Given the description of an element on the screen output the (x, y) to click on. 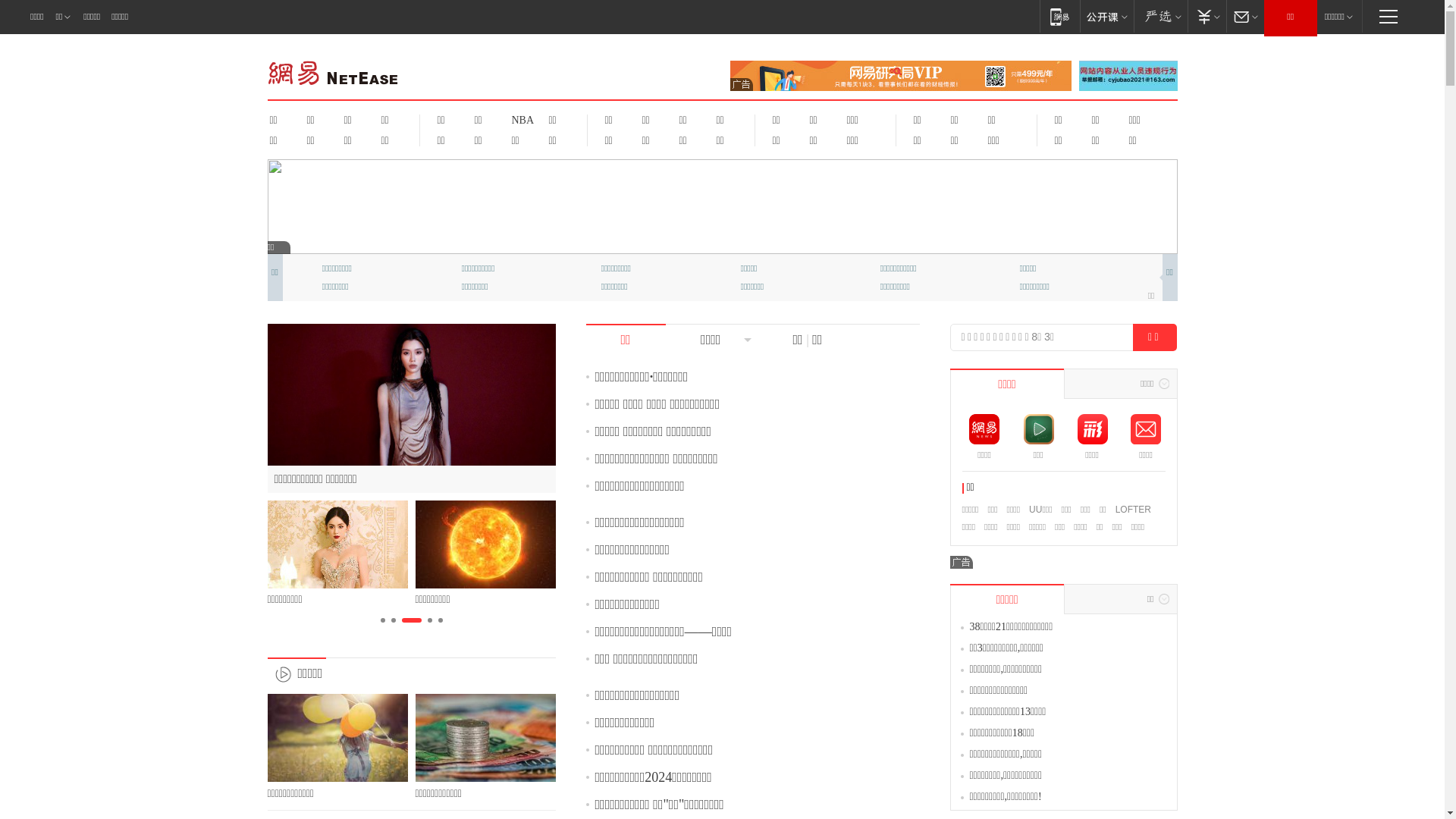
NBA Element type: text (520, 119)
LOFTER Element type: text (1133, 509)
